Given the description of an element on the screen output the (x, y) to click on. 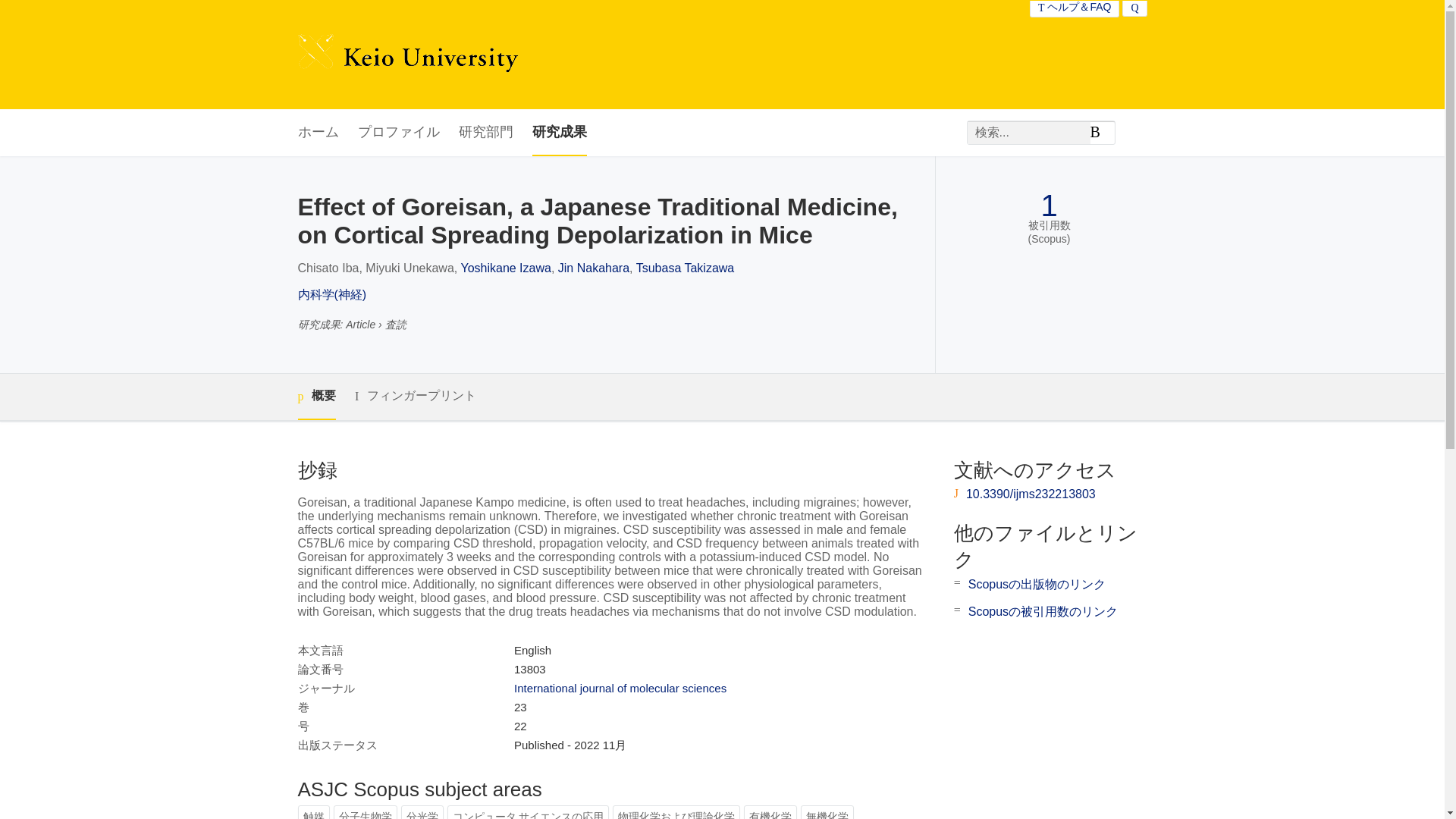
Yoshikane Izawa (505, 267)
Tsubasa Takizawa (685, 267)
Jin Nakahara (592, 267)
International journal of molecular sciences (619, 687)
